Given the description of an element on the screen output the (x, y) to click on. 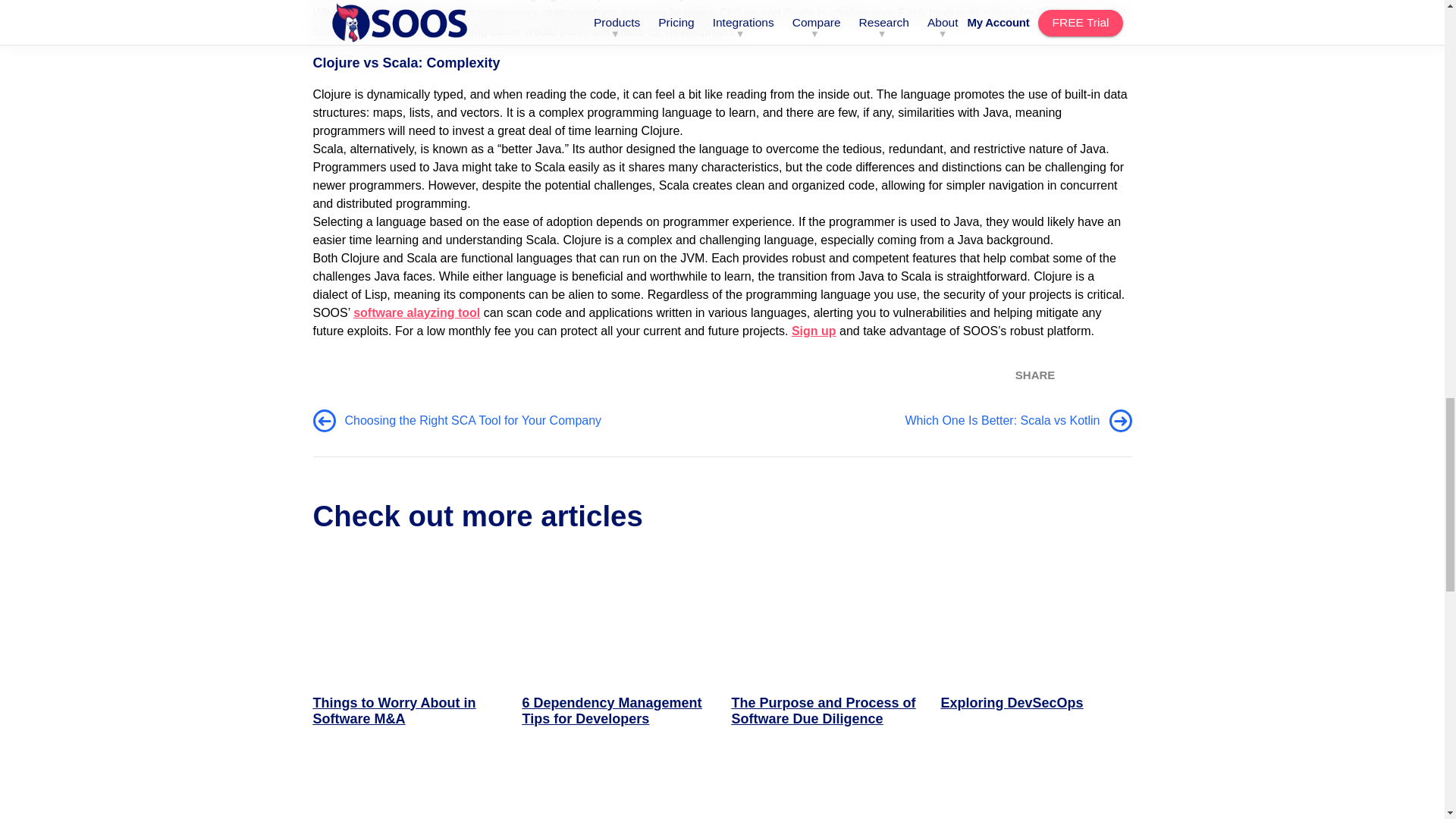
DevOps Is: Atlassian (1035, 791)
The Purpose and Process of Software Due Diligence (825, 651)
Exploring DevSecOps (1035, 651)
Managing OSS for Mergers and Acquisitions (408, 791)
DevOps Pipeline Security (825, 791)
6 Dependency Management Tips for Developers (617, 651)
